Given the description of an element on the screen output the (x, y) to click on. 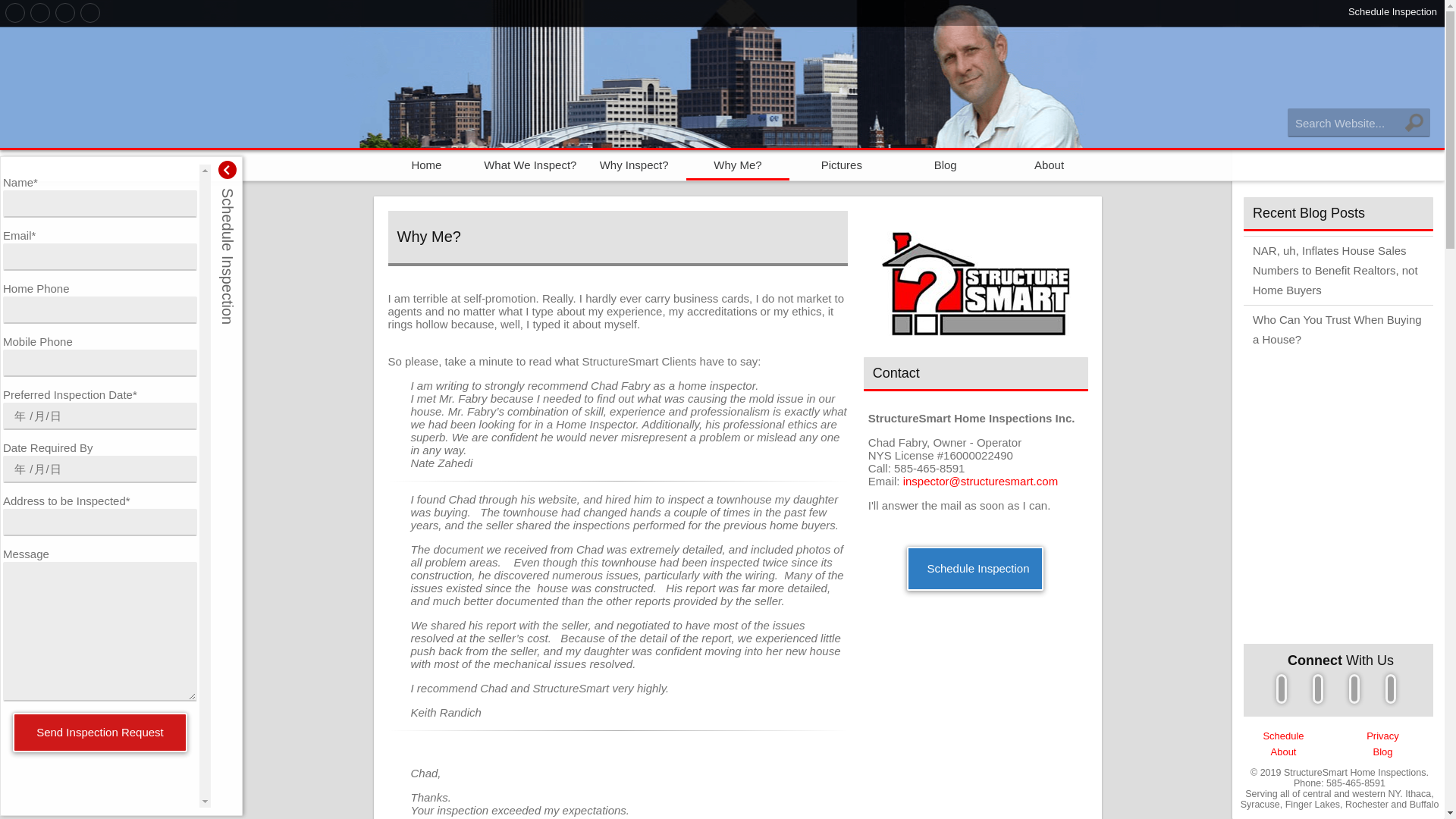
Who Can You Trust When Buying a House? (1337, 328)
Schedule Inspection (1392, 11)
Why Me? (737, 161)
Why Inspect? (633, 161)
Privacy (1383, 735)
Blog (1382, 752)
Schedule (1282, 735)
visit us on facebook (1281, 691)
About (1284, 752)
Send Inspection Request (100, 732)
